Given the description of an element on the screen output the (x, y) to click on. 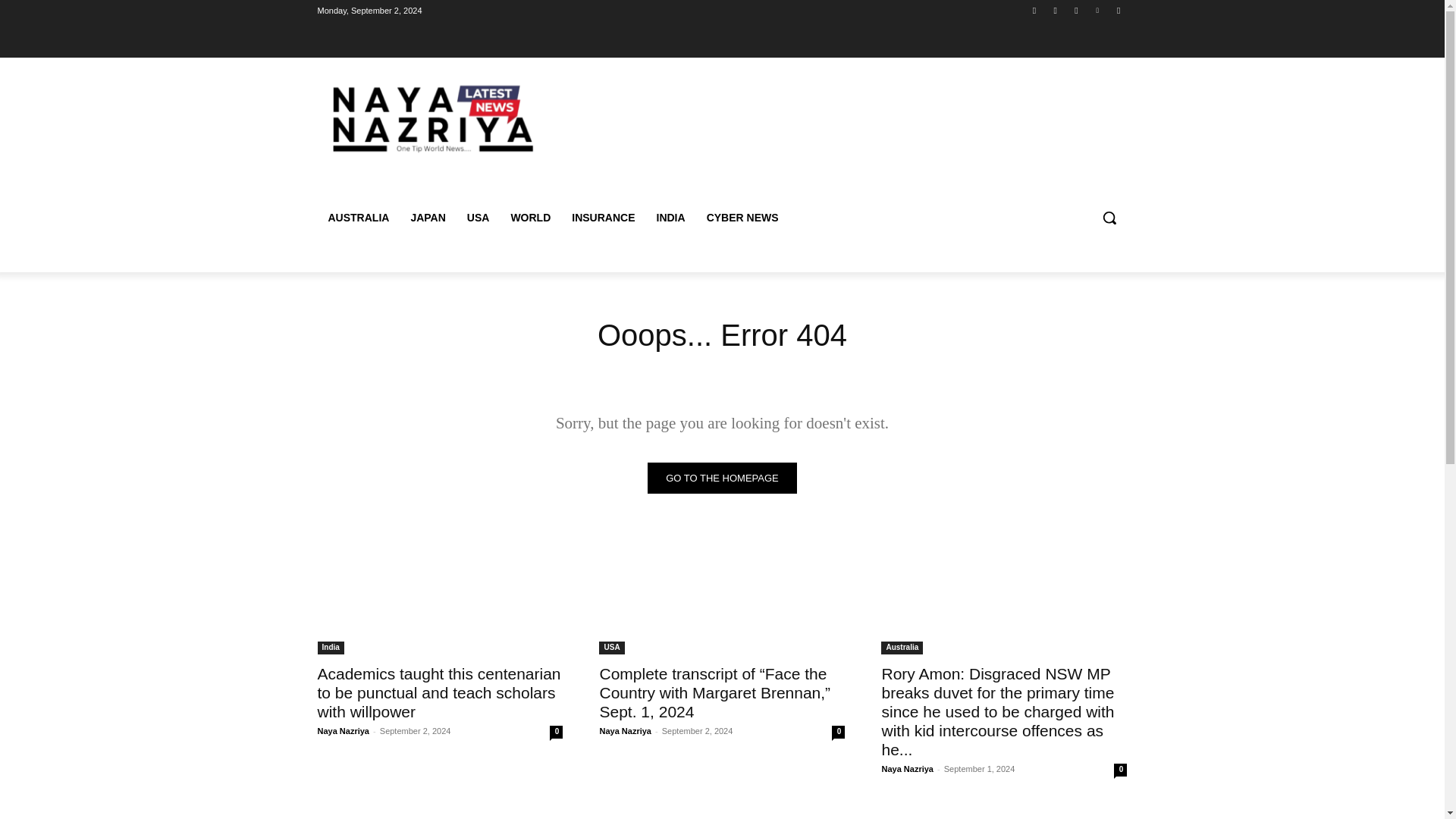
USA (478, 217)
Australia (901, 647)
Go to the homepage (721, 477)
Vimeo (1097, 9)
CYBER NEWS (742, 217)
AUSTRALIA (357, 217)
GO TO THE HOMEPAGE (721, 477)
